Given the description of an element on the screen output the (x, y) to click on. 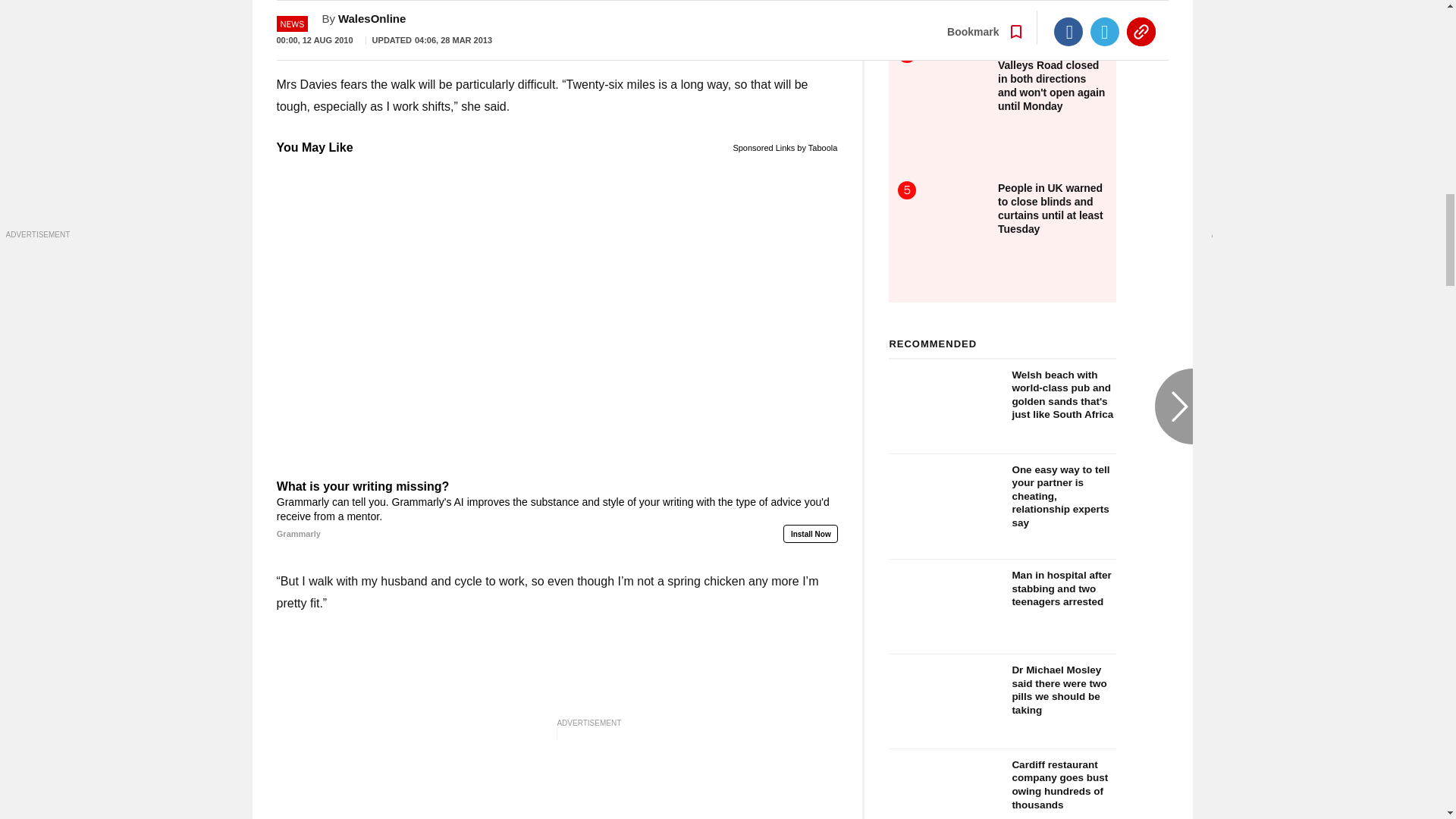
What is your writing missing? (557, 510)
